Given the description of an element on the screen output the (x, y) to click on. 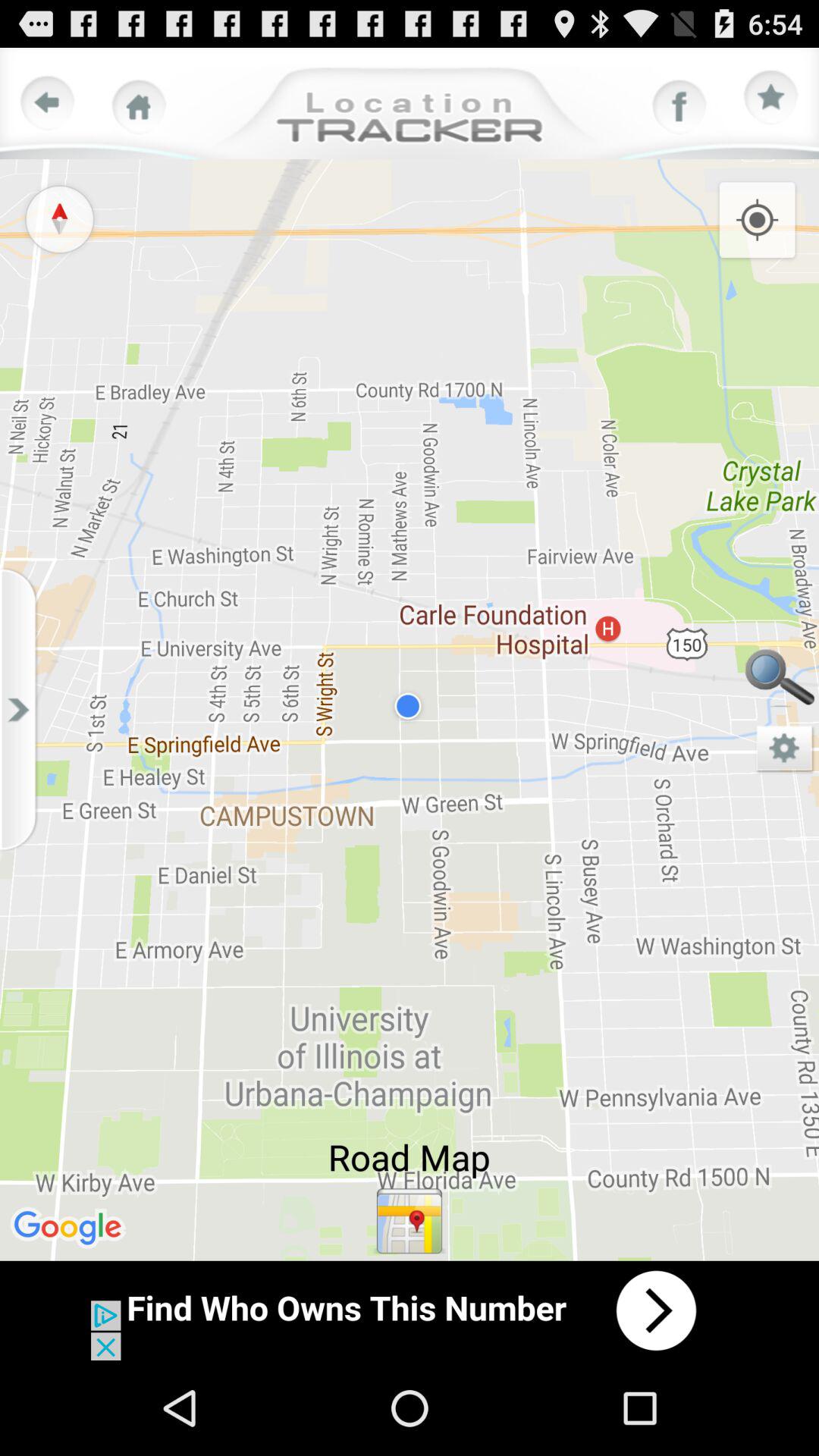
go to home (139, 107)
